Given the description of an element on the screen output the (x, y) to click on. 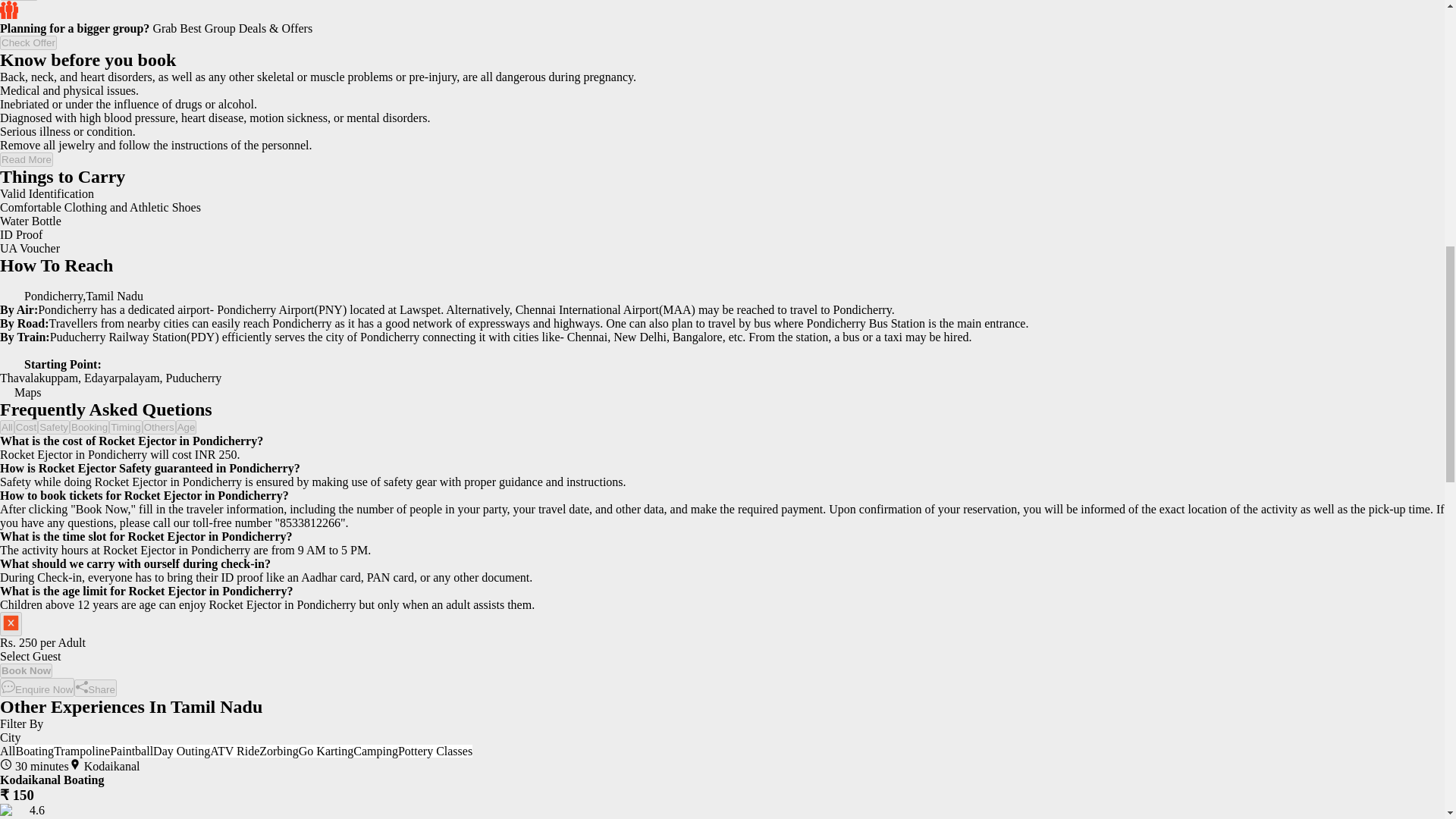
Cost (25, 427)
Age (186, 427)
Others (159, 427)
Share (95, 687)
Book Now (26, 670)
Timing (125, 427)
Enquire Now (37, 687)
Check Offer (28, 42)
Booking (89, 427)
Safety (53, 427)
Read More (26, 159)
All (7, 427)
Maps (21, 391)
